Given the description of an element on the screen output the (x, y) to click on. 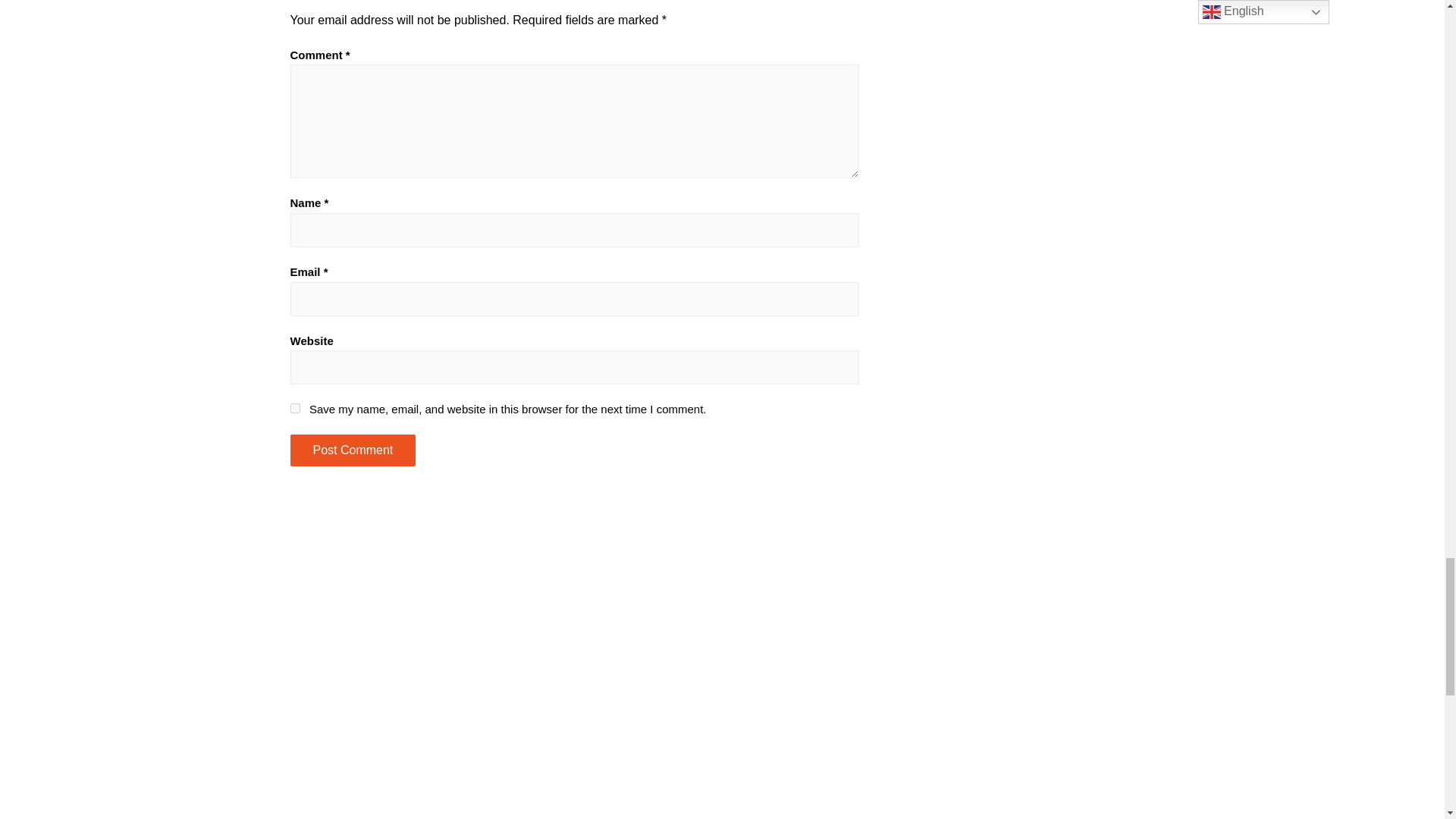
yes (294, 408)
Post Comment (351, 450)
